Given the description of an element on the screen output the (x, y) to click on. 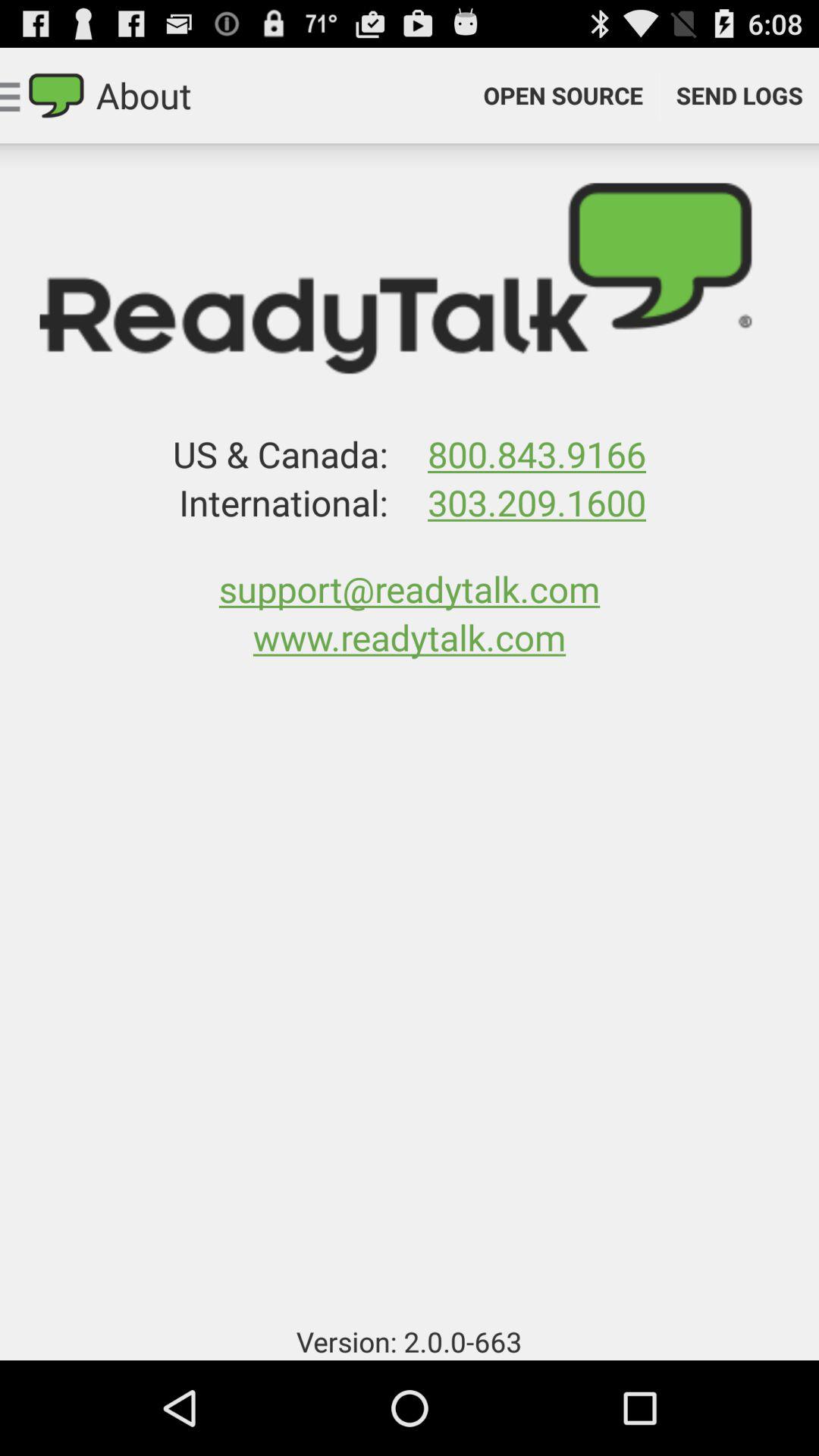
tap icon to the right of the about (563, 95)
